Given the description of an element on the screen output the (x, y) to click on. 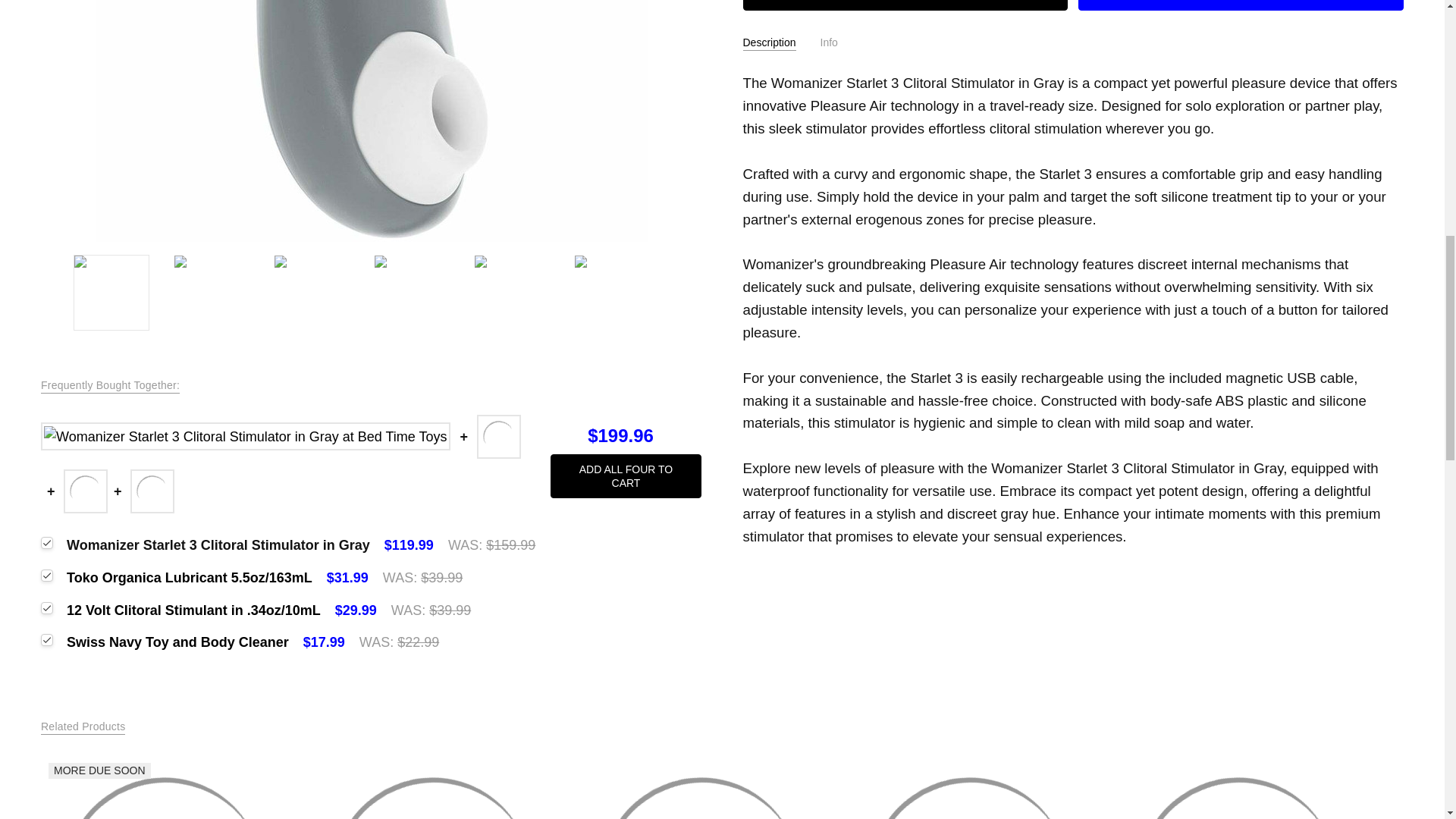
Add to Cart (905, 5)
